Given the description of an element on the screen output the (x, y) to click on. 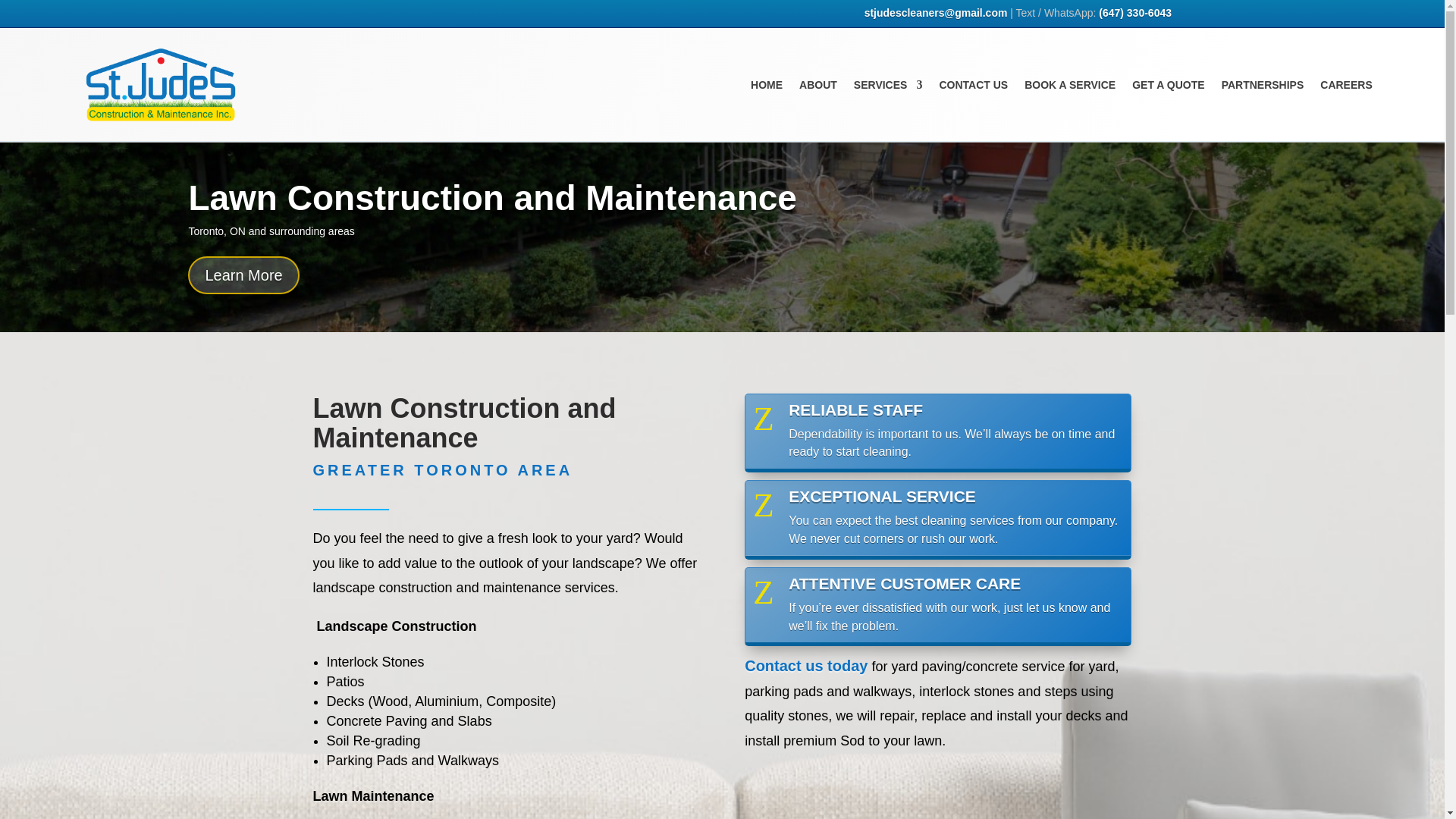
Contact us today (805, 665)
Learn More (242, 293)
Lawn Construction and Maintenance (491, 216)
